Given the description of an element on the screen output the (x, y) to click on. 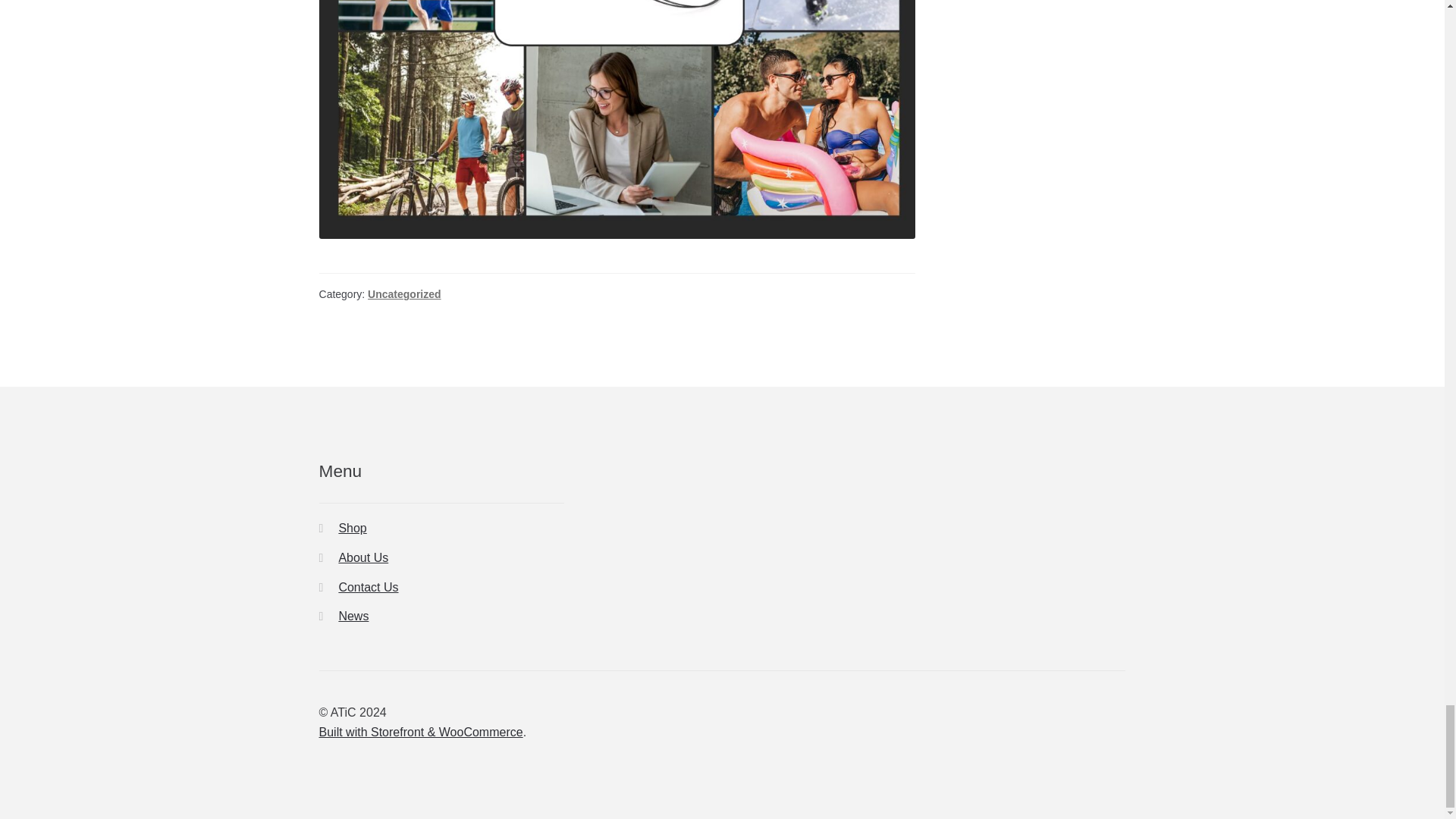
About Us (362, 557)
News (352, 615)
Shop (351, 527)
Uncategorized (404, 294)
WooCommerce - The Best eCommerce Platform for WordPress (420, 731)
Contact Us (367, 586)
